Given the description of an element on the screen output the (x, y) to click on. 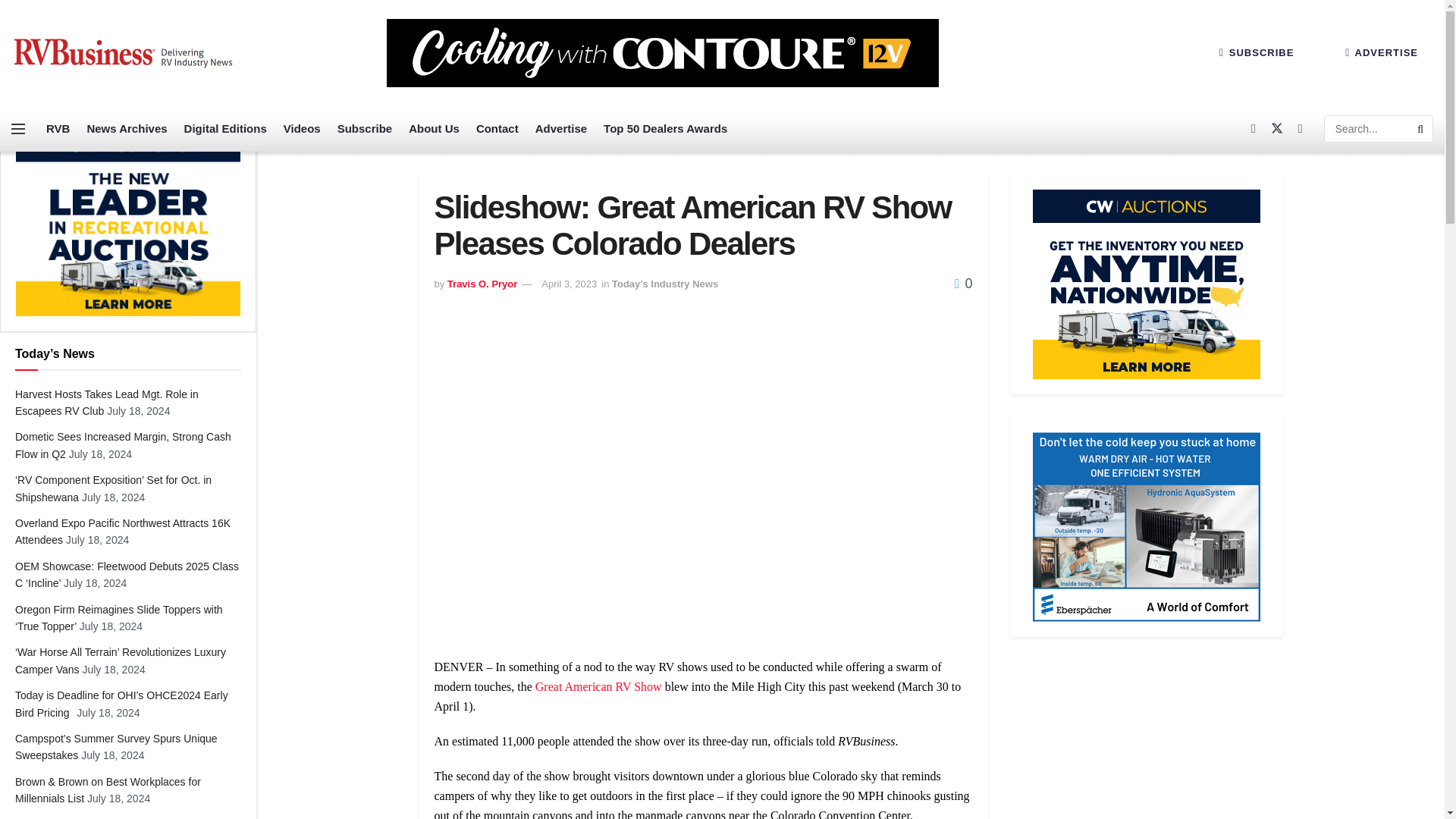
Subscribe (365, 128)
Advertise (560, 128)
Contact (497, 128)
Dometic Sees Increased Margin, Strong Cash Flow in Q2 (122, 444)
RVB (57, 128)
Overland Expo Pacific Northwest Attracts 16K Attendees (122, 531)
SUBSCRIBE (1256, 52)
Videos (301, 128)
About Us (434, 128)
Top 50 Dealers Awards (665, 128)
Harvest Hosts Takes Lead Mgt. Role in Escapees RV Club (106, 402)
Digital Editions (225, 128)
ADVERTISE (1381, 52)
News Archives (126, 128)
